Given the description of an element on the screen output the (x, y) to click on. 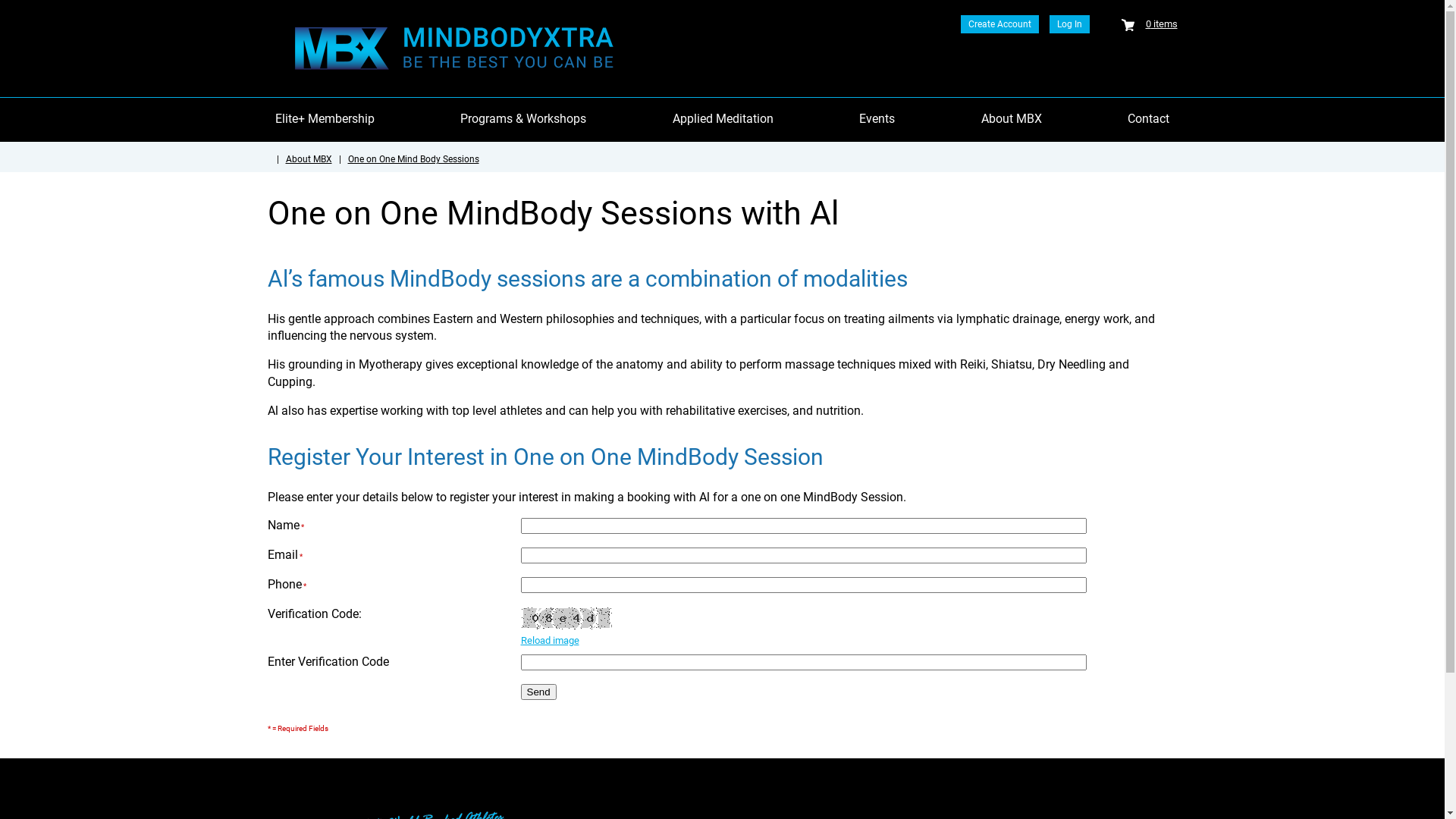
Elite+ Membership Element type: text (323, 118)
Events Element type: text (876, 118)
Send Element type: hover (537, 691)
0 items Element type: text (1155, 24)
Send Element type: text (537, 691)
About MBX Element type: text (1011, 118)
Programs & Workshops Element type: text (522, 118)
About MBX Element type: text (308, 158)
One on One Mind Body Sessions Element type: text (412, 158)
Reload image Element type: text (549, 639)
Log In Element type: text (1069, 24)
Applied Meditation Element type: text (723, 118)
Create Account Element type: text (999, 24)
Contact Element type: text (1148, 118)
